Given the description of an element on the screen output the (x, y) to click on. 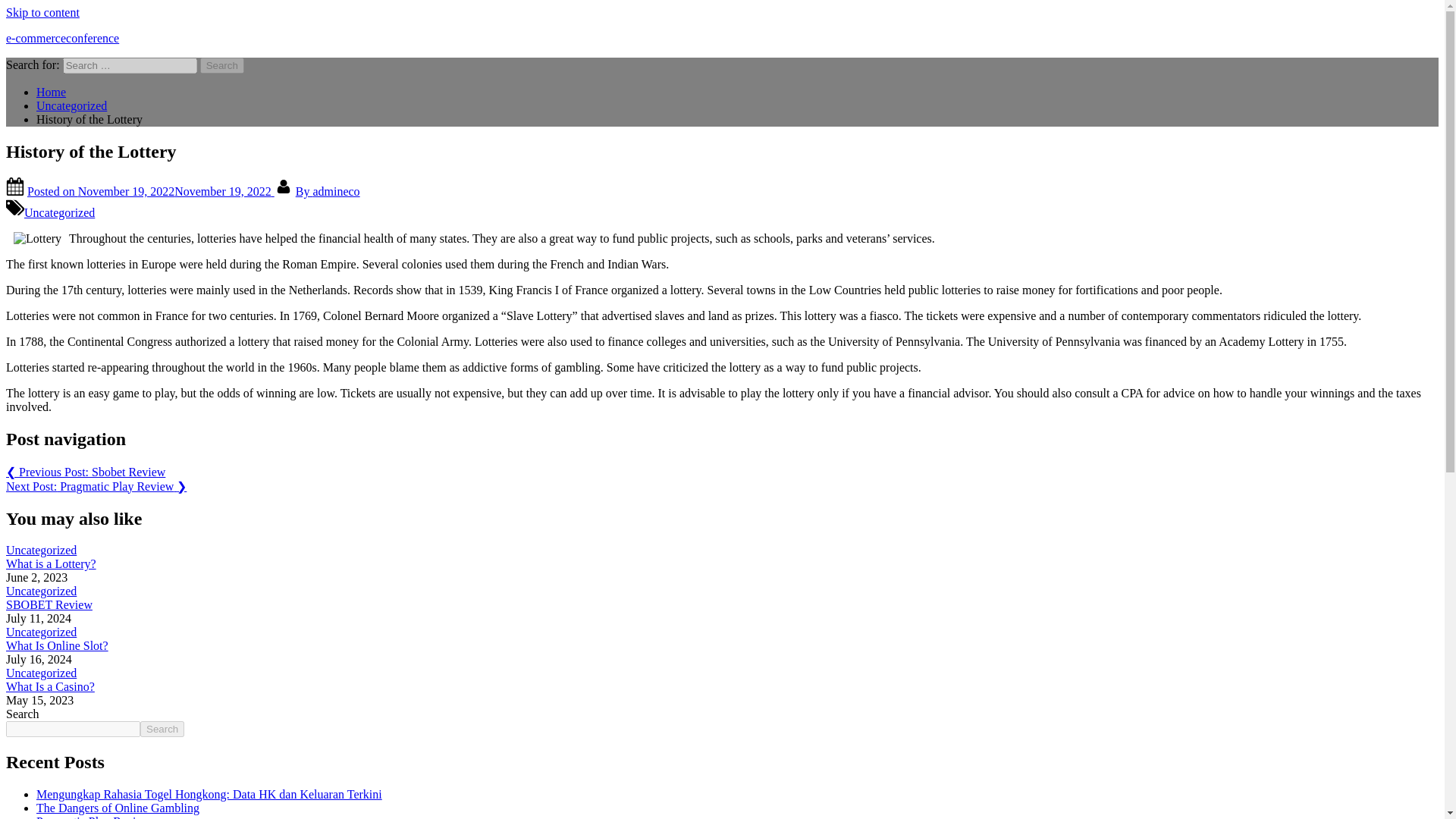
Uncategorized (41, 590)
The Dangers of Online Gambling (117, 807)
Search (222, 65)
By admineco (327, 191)
e-commerceconference (62, 38)
Uncategorized (41, 549)
Home (50, 91)
SBOBET Review (49, 604)
Pragmatic Play Review (92, 816)
Uncategorized (71, 105)
Uncategorized (41, 672)
What Is Online Slot? (56, 645)
What Is a Casino? (49, 686)
Search (161, 729)
Search (222, 65)
